Given the description of an element on the screen output the (x, y) to click on. 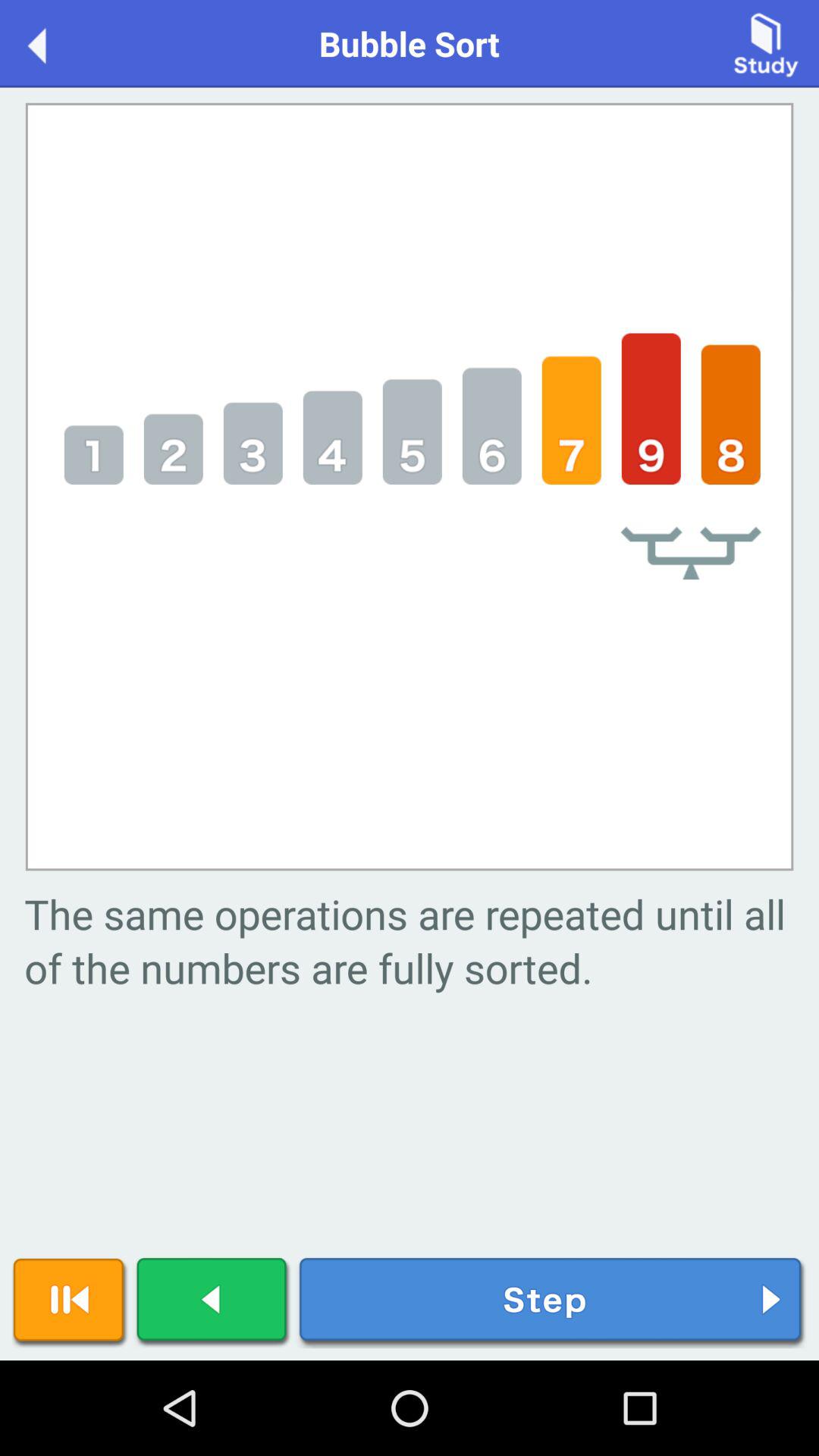
play (213, 1302)
